Given the description of an element on the screen output the (x, y) to click on. 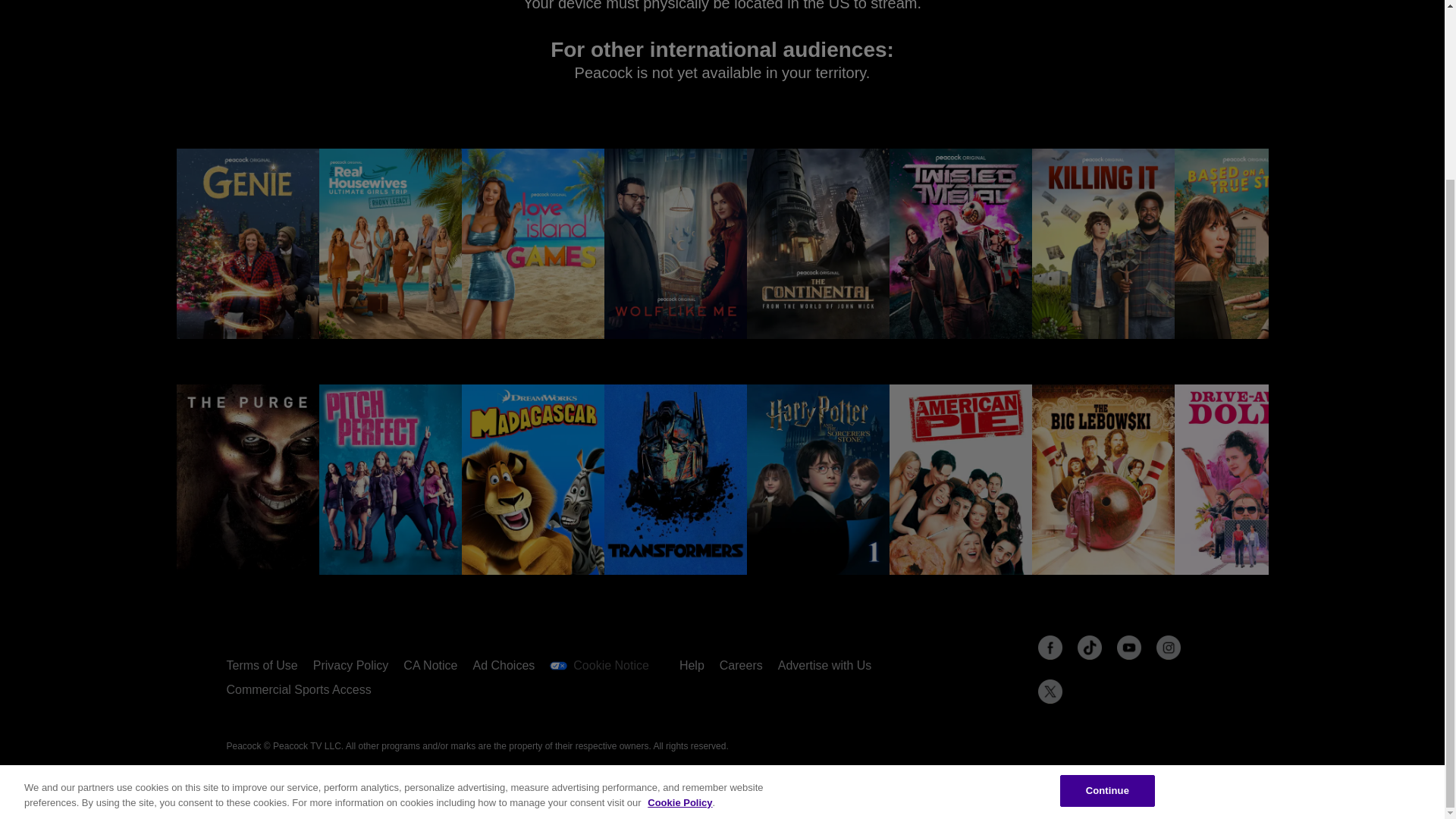
X (1050, 691)
YouTube (1128, 647)
Facebook (1050, 647)
Instagram (1168, 647)
TikTok (1089, 647)
